Given the description of an element on the screen output the (x, y) to click on. 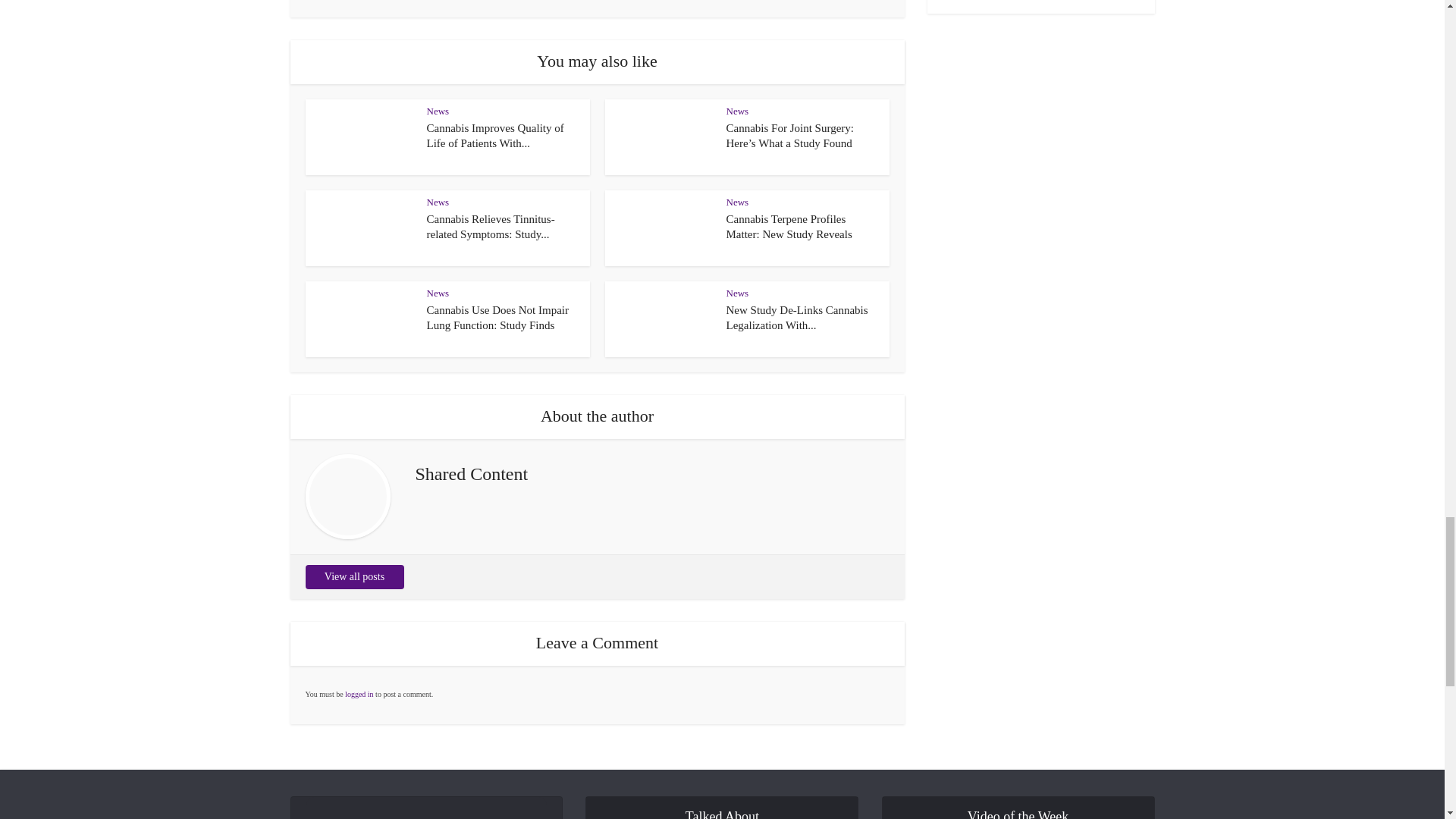
Cannabis Relieves Tinnitus-related Symptoms: Study Finds (490, 226)
Cannabis Use Does Not Impair Lung Function: Study Finds (496, 317)
Cannabis Terpene Profiles Matter: New Study Reveals (788, 226)
